Given the description of an element on the screen output the (x, y) to click on. 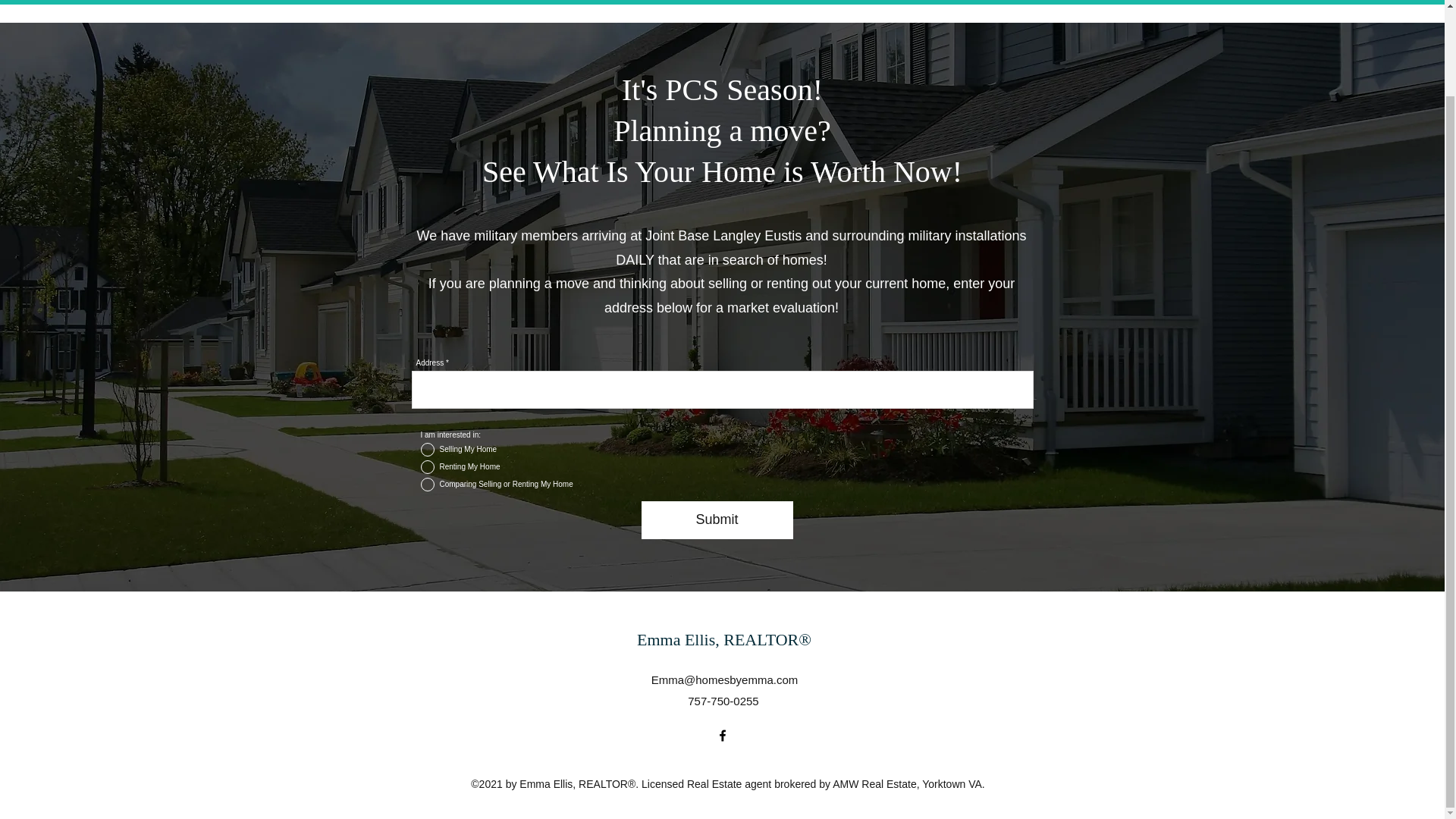
FAQ (280, 0)
Submit (717, 519)
Home (83, 0)
About (224, 0)
